Given the description of an element on the screen output the (x, y) to click on. 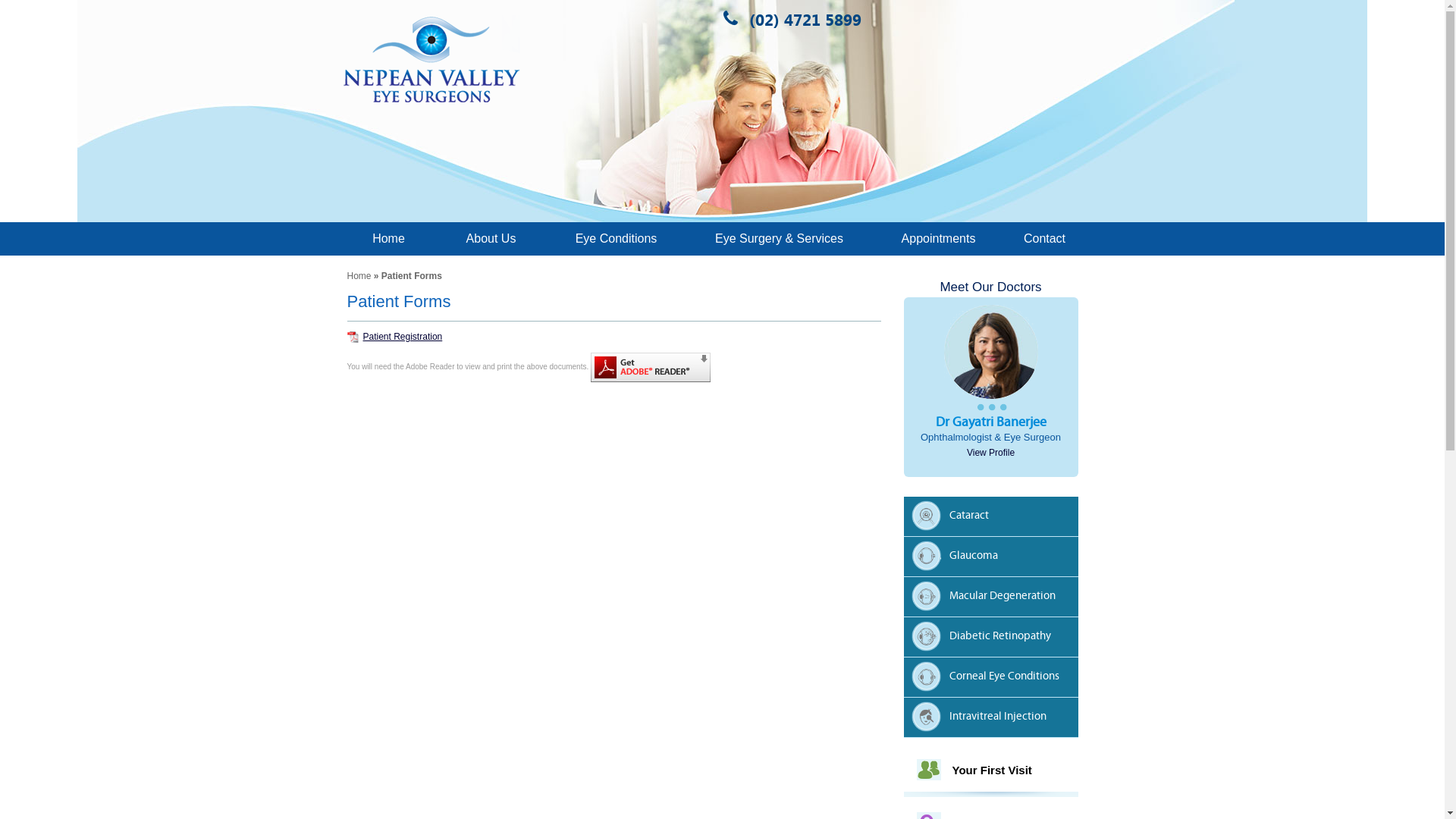
Your First Visit Element type: text (992, 769)
Intravitreal Injection Element type: text (994, 719)
Glaucoma Element type: text (994, 558)
About Us Element type: text (490, 238)
Appointments Element type: text (937, 238)
Home Element type: text (359, 275)
(02) 4721 5899 Element type: text (798, 18)
Dr Gayatri Banerjee Element type: text (990, 421)
Diabetic Retinopathy Element type: text (994, 638)
Meet Our Doctors Element type: text (990, 286)
Corneal Eye Conditions Element type: text (994, 678)
Patient Registration Element type: text (394, 336)
Contact Element type: text (1043, 238)
Eye Surgery & Services Element type: text (778, 238)
Macular Degeneration Element type: text (994, 598)
Eye Conditions Element type: text (615, 238)
View Profile Element type: text (990, 452)
Cataract Element type: text (994, 518)
Home Element type: text (387, 238)
